Given the description of an element on the screen output the (x, y) to click on. 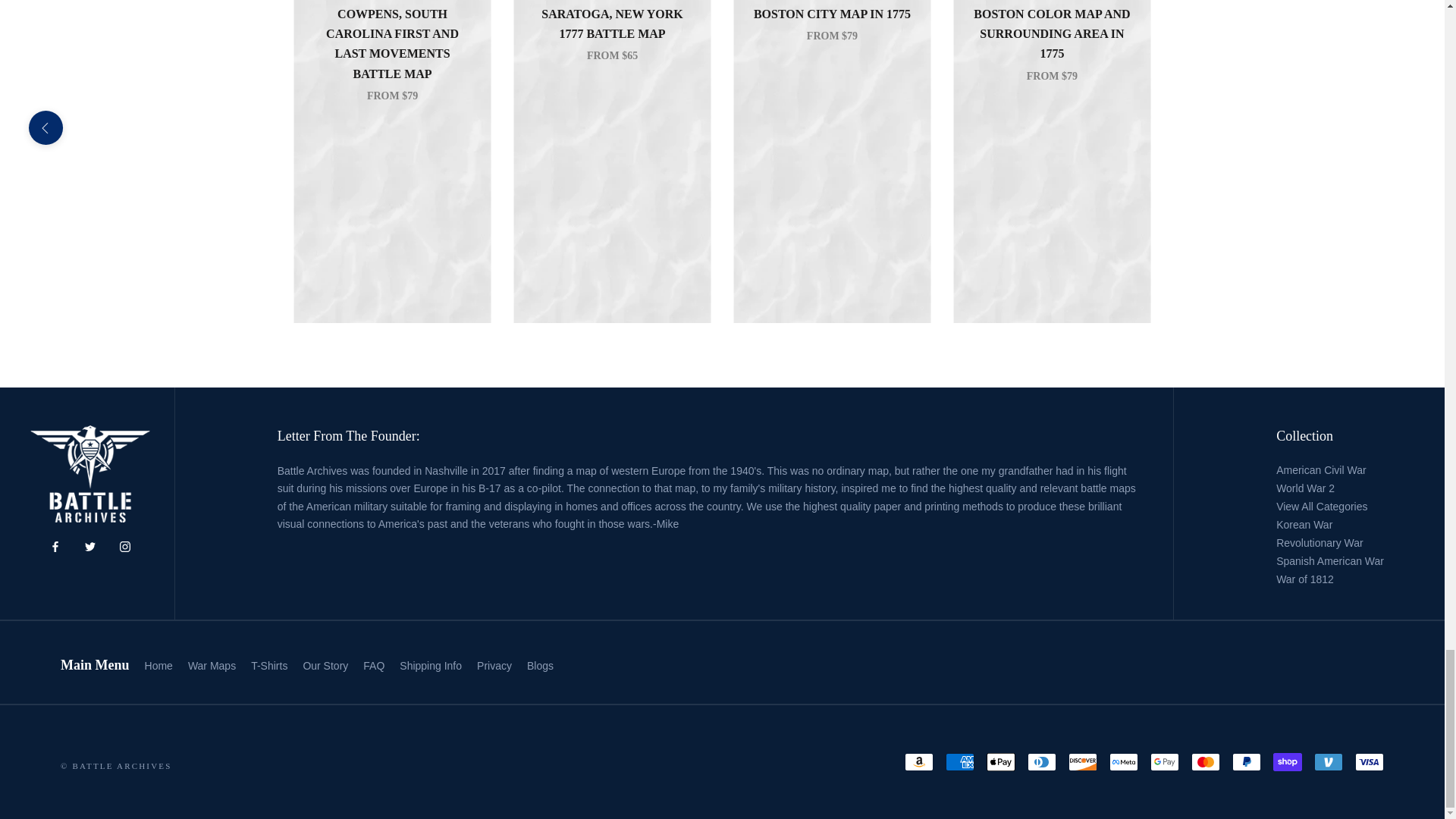
Amazon (918, 761)
Apple Pay (1000, 761)
Visa (1369, 761)
PayPal (1245, 761)
Meta Pay (1123, 761)
Google Pay (1164, 761)
Diners Club (1042, 761)
Shop Pay (1286, 761)
American Express (959, 761)
Discover (1082, 761)
Mastercard (1205, 761)
Venmo (1328, 761)
